Given the description of an element on the screen output the (x, y) to click on. 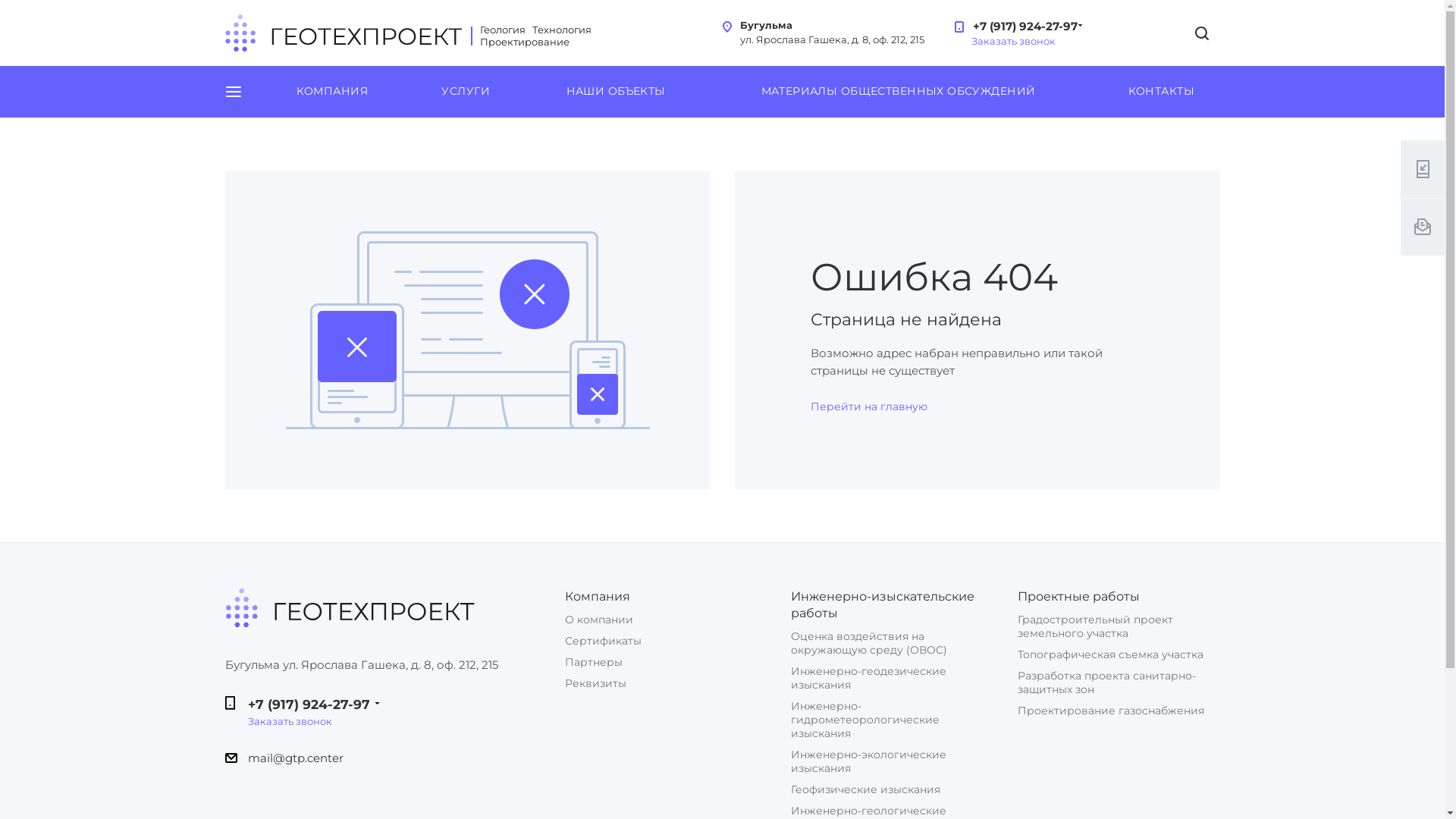
+7 (917) 924-27-97 Element type: text (308, 704)
mail@gtp.center Element type: text (294, 757)
+7 (917) 924-27-97 Element type: text (1021, 20)
